Given the description of an element on the screen output the (x, y) to click on. 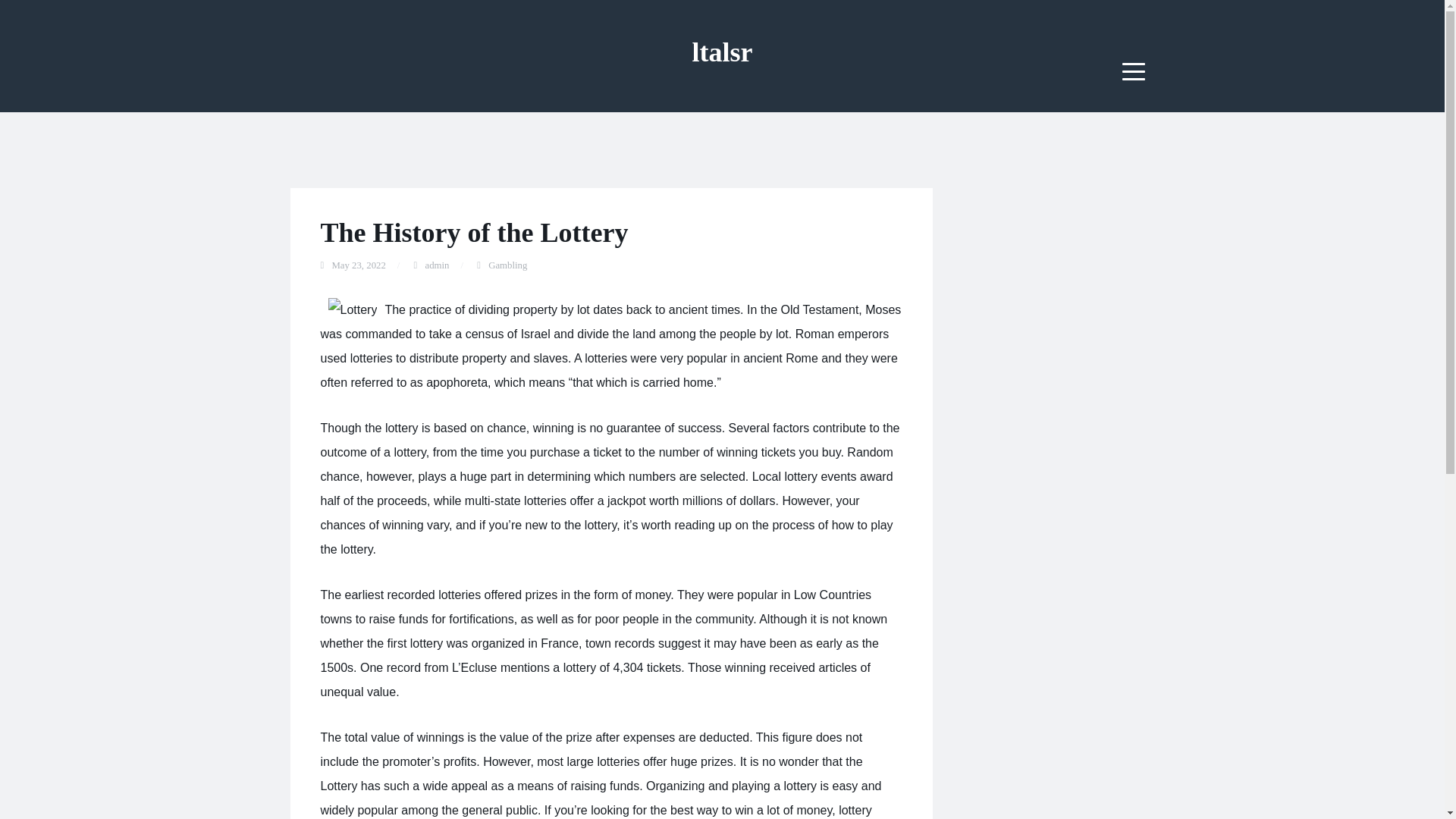
ltalsr (721, 51)
Menu (1133, 71)
May 23, 2022 (358, 265)
admin (436, 265)
Gambling (507, 265)
